Given the description of an element on the screen output the (x, y) to click on. 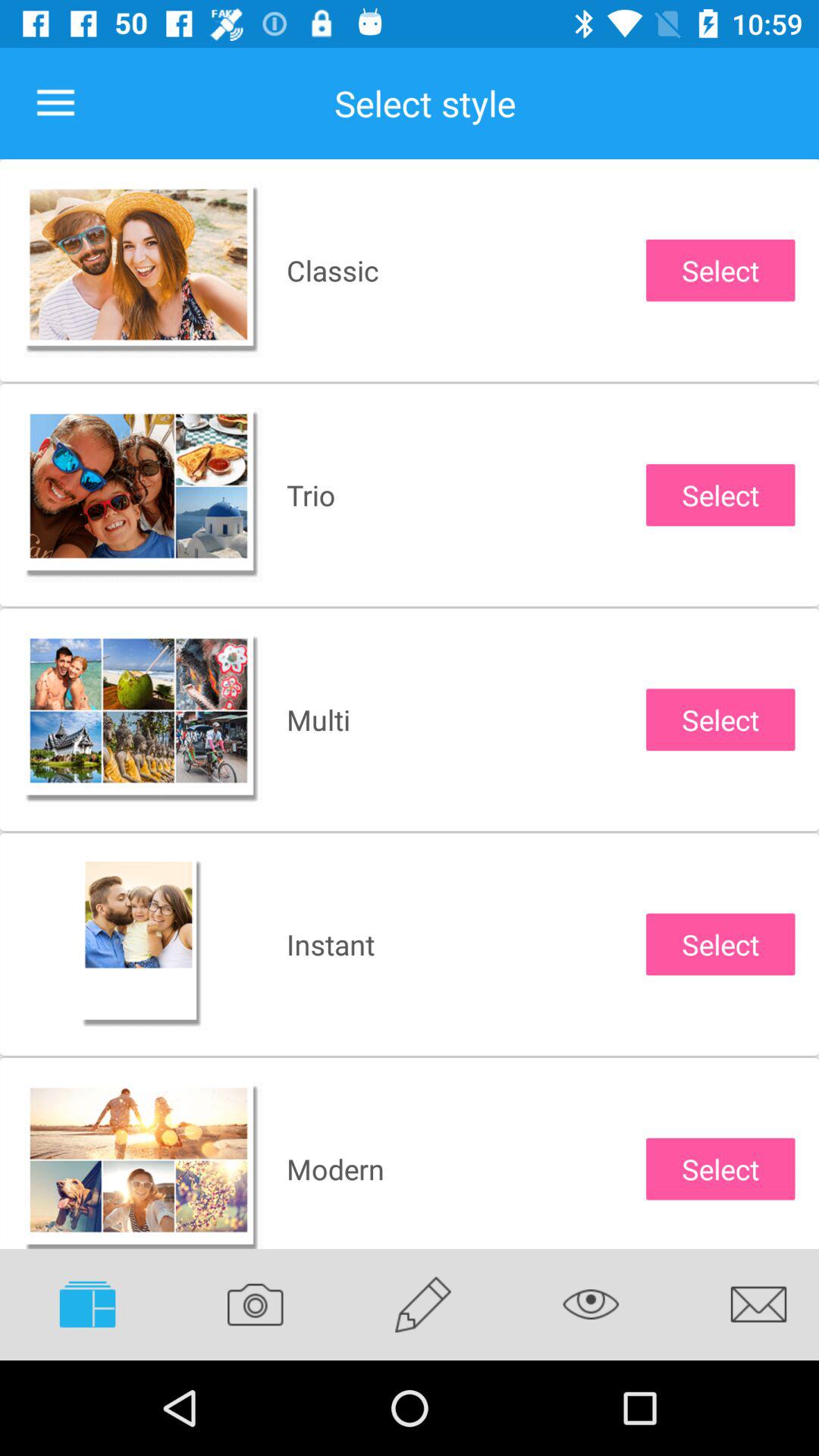
select icon below modern (423, 1304)
